Given the description of an element on the screen output the (x, y) to click on. 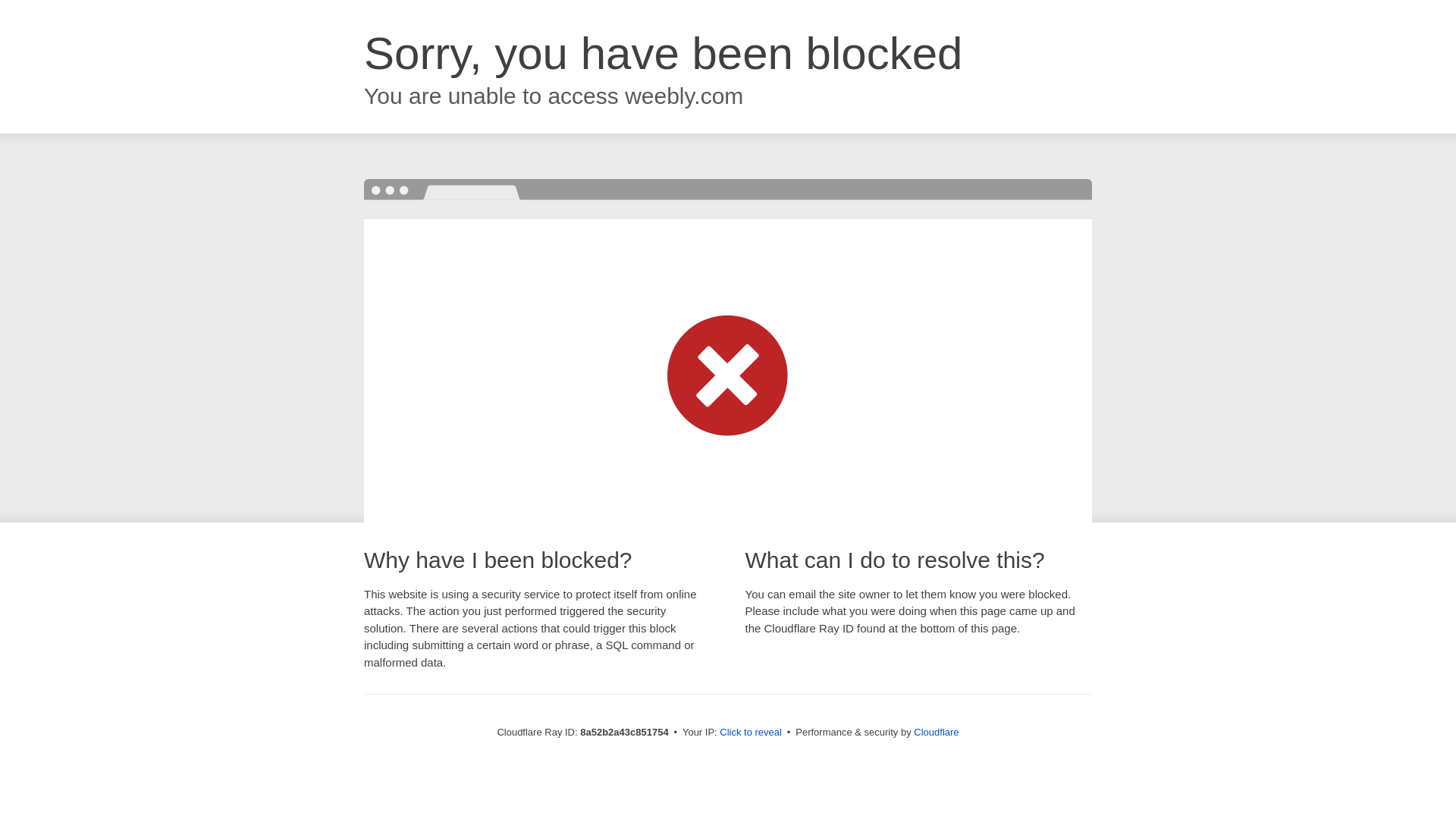
Click to reveal (750, 732)
Cloudflare (936, 731)
